Given the description of an element on the screen output the (x, y) to click on. 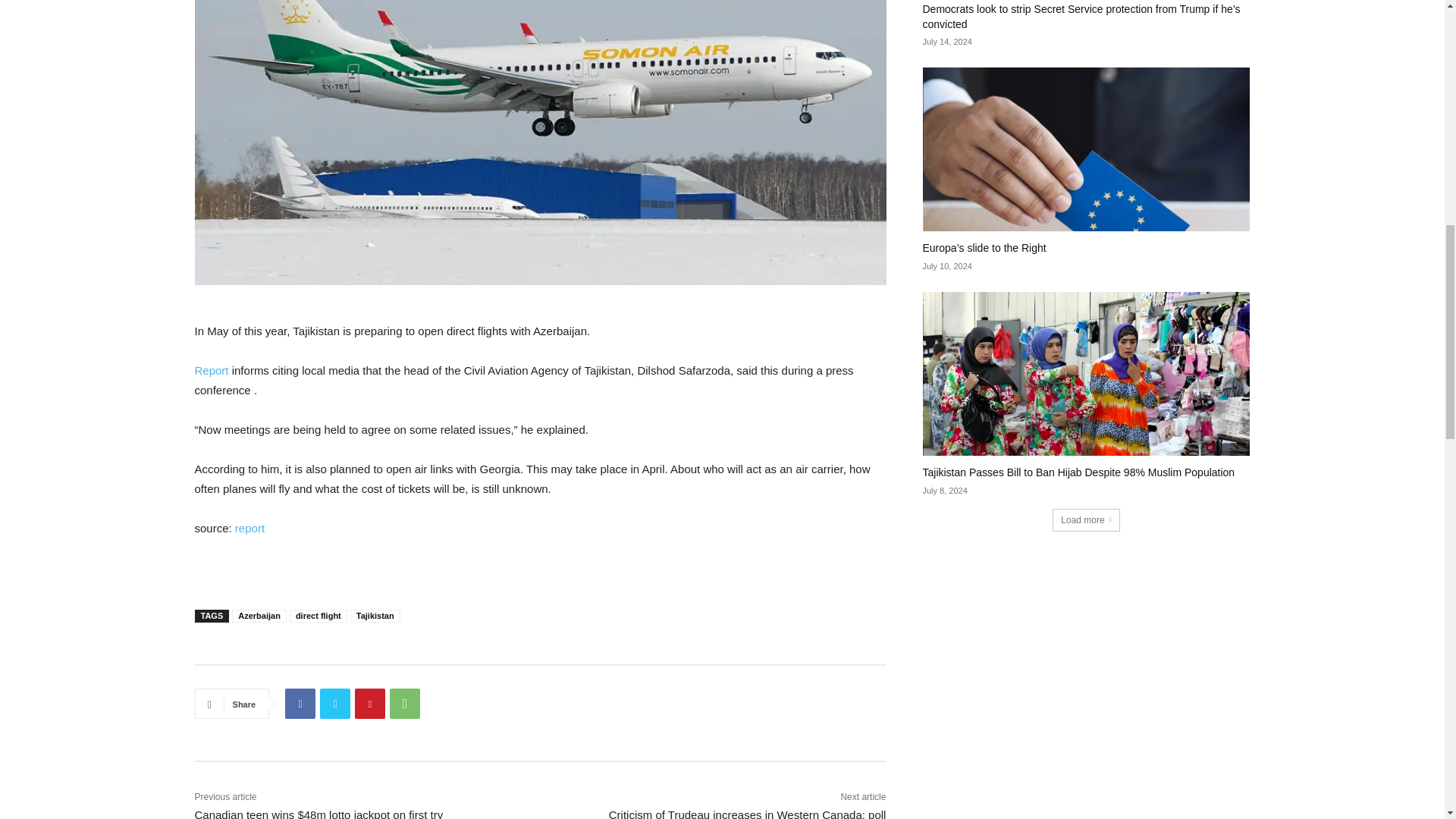
Facebook (300, 703)
